Given the description of an element on the screen output the (x, y) to click on. 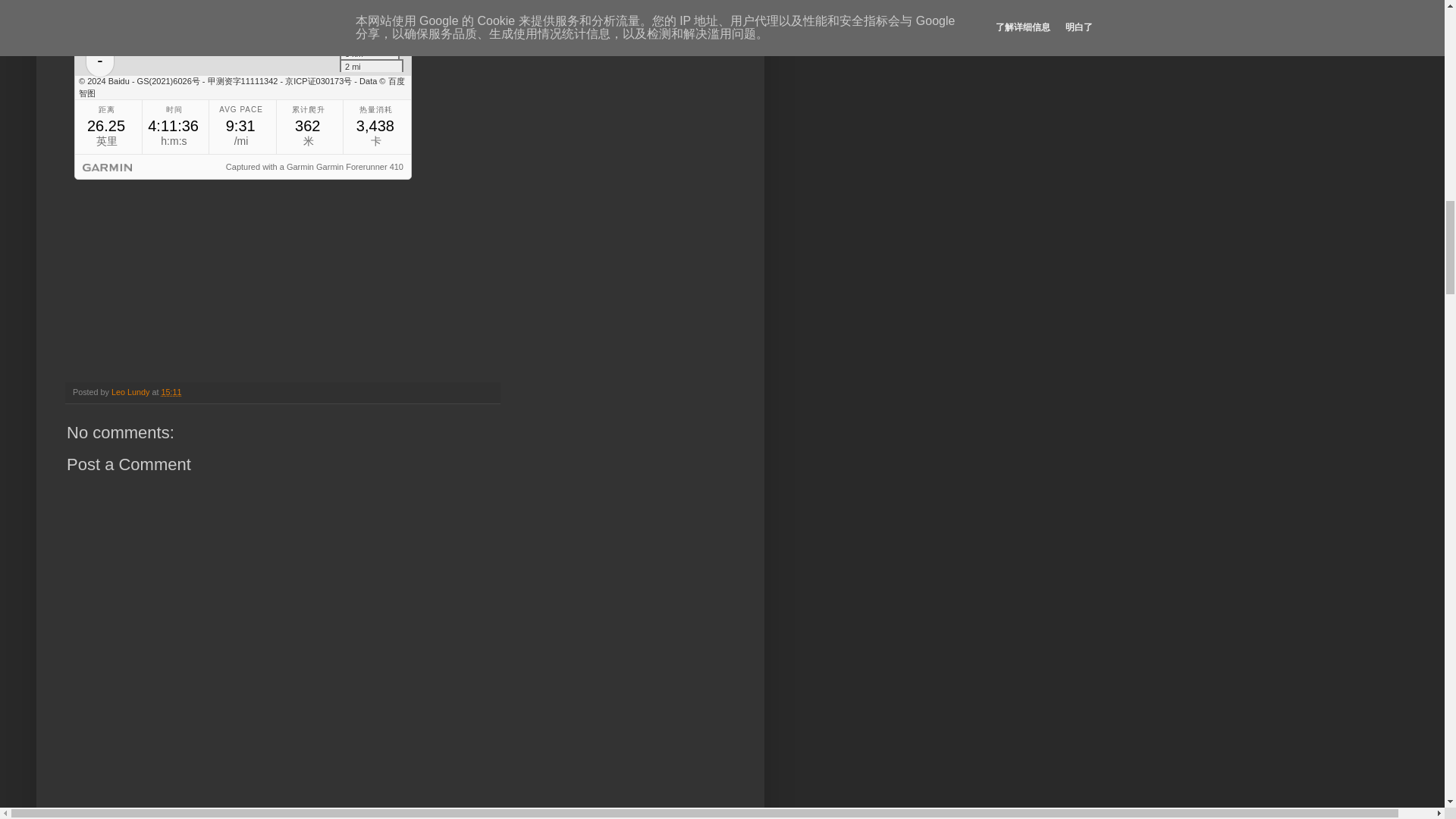
Leo Lundy (131, 391)
author profile (131, 391)
Newer Post (93, 810)
permanent link (170, 391)
15:11 (170, 391)
Older Post (148, 810)
Newer Post (93, 810)
Older Post (148, 810)
Home (192, 810)
